Given the description of an element on the screen output the (x, y) to click on. 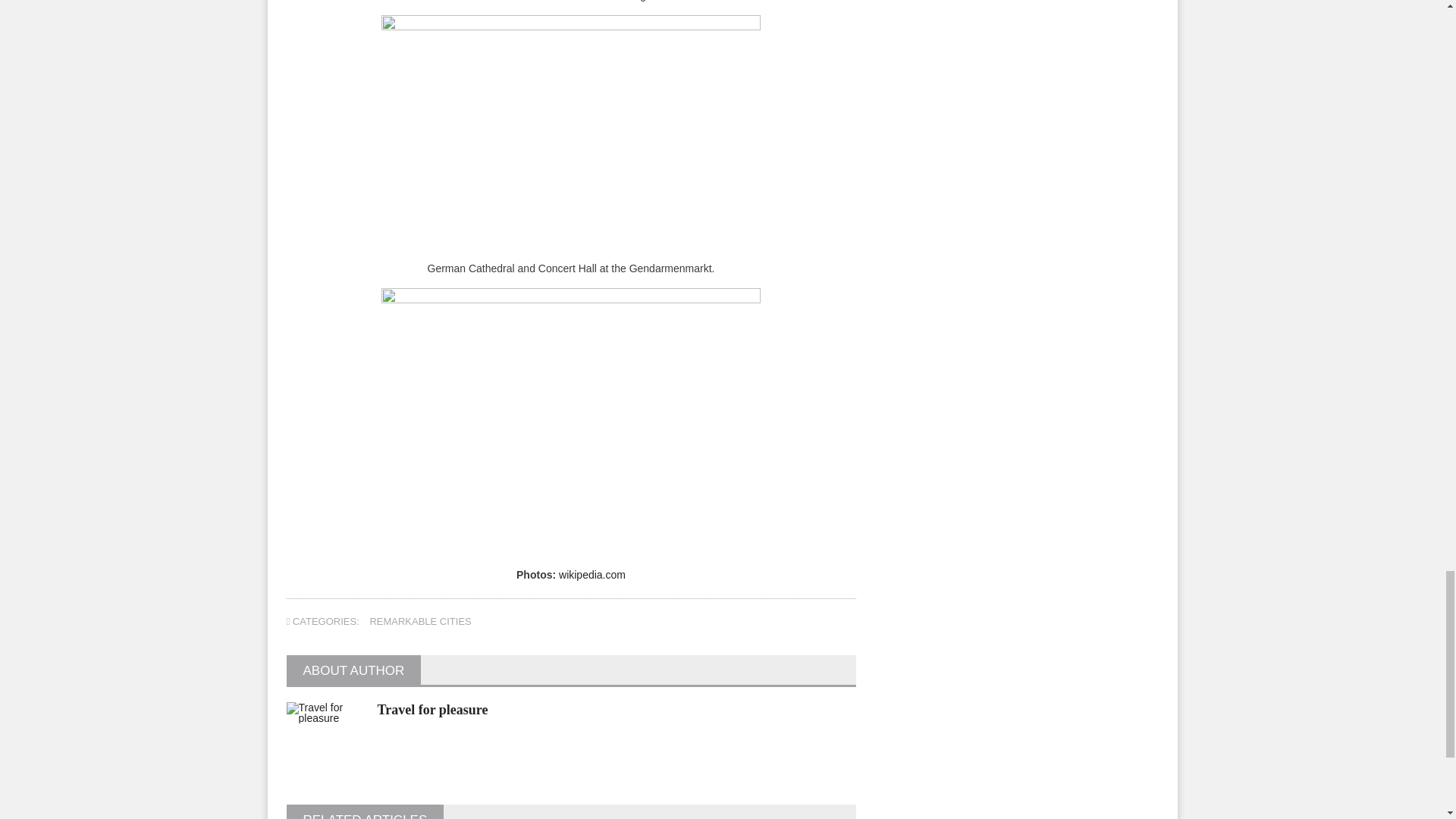
REMARKABLE CITIES (419, 621)
wikipedia.com (592, 574)
Travel for pleasure (432, 709)
